Given the description of an element on the screen output the (x, y) to click on. 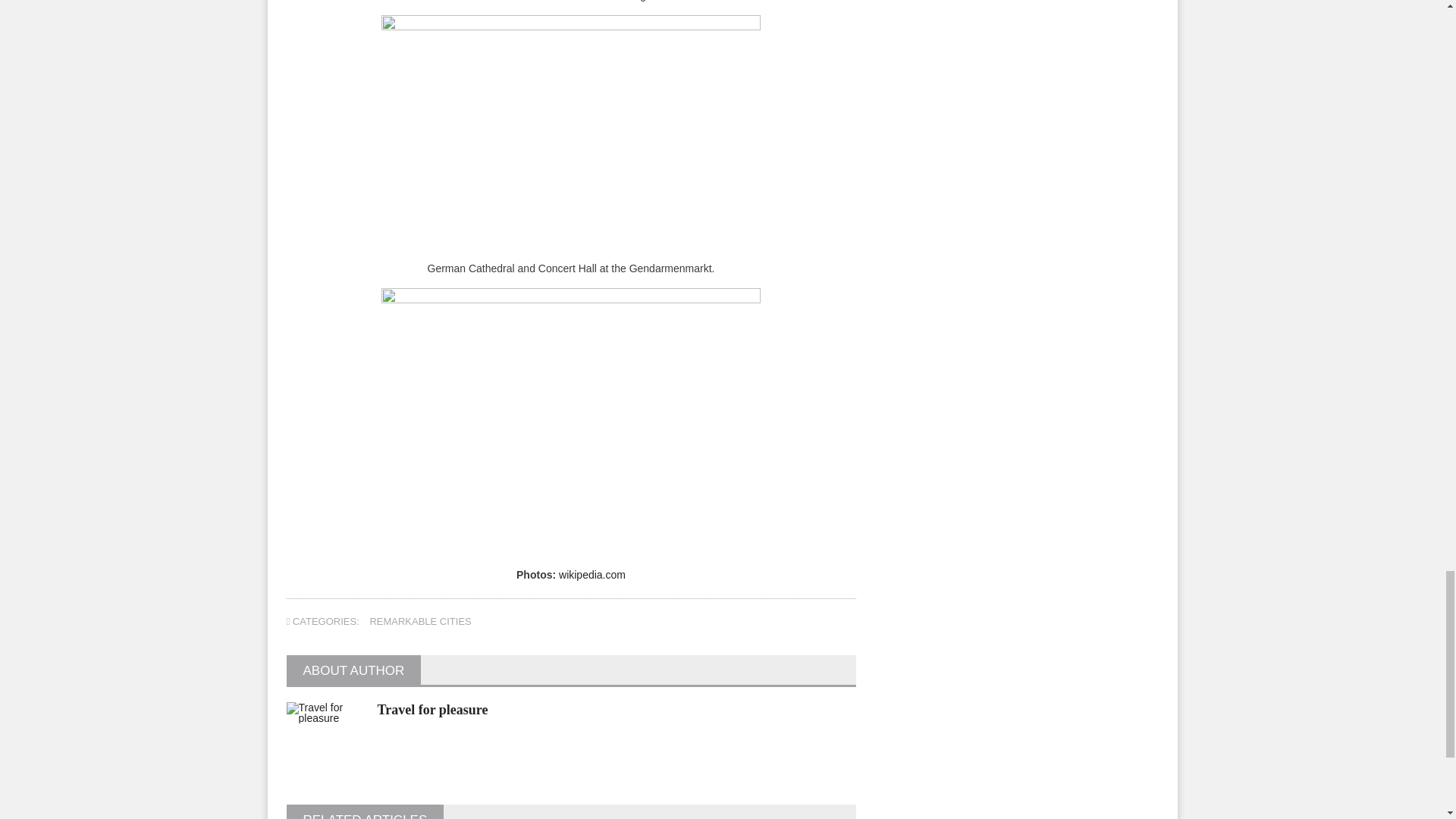
REMARKABLE CITIES (419, 621)
wikipedia.com (592, 574)
Travel for pleasure (432, 709)
